Given the description of an element on the screen output the (x, y) to click on. 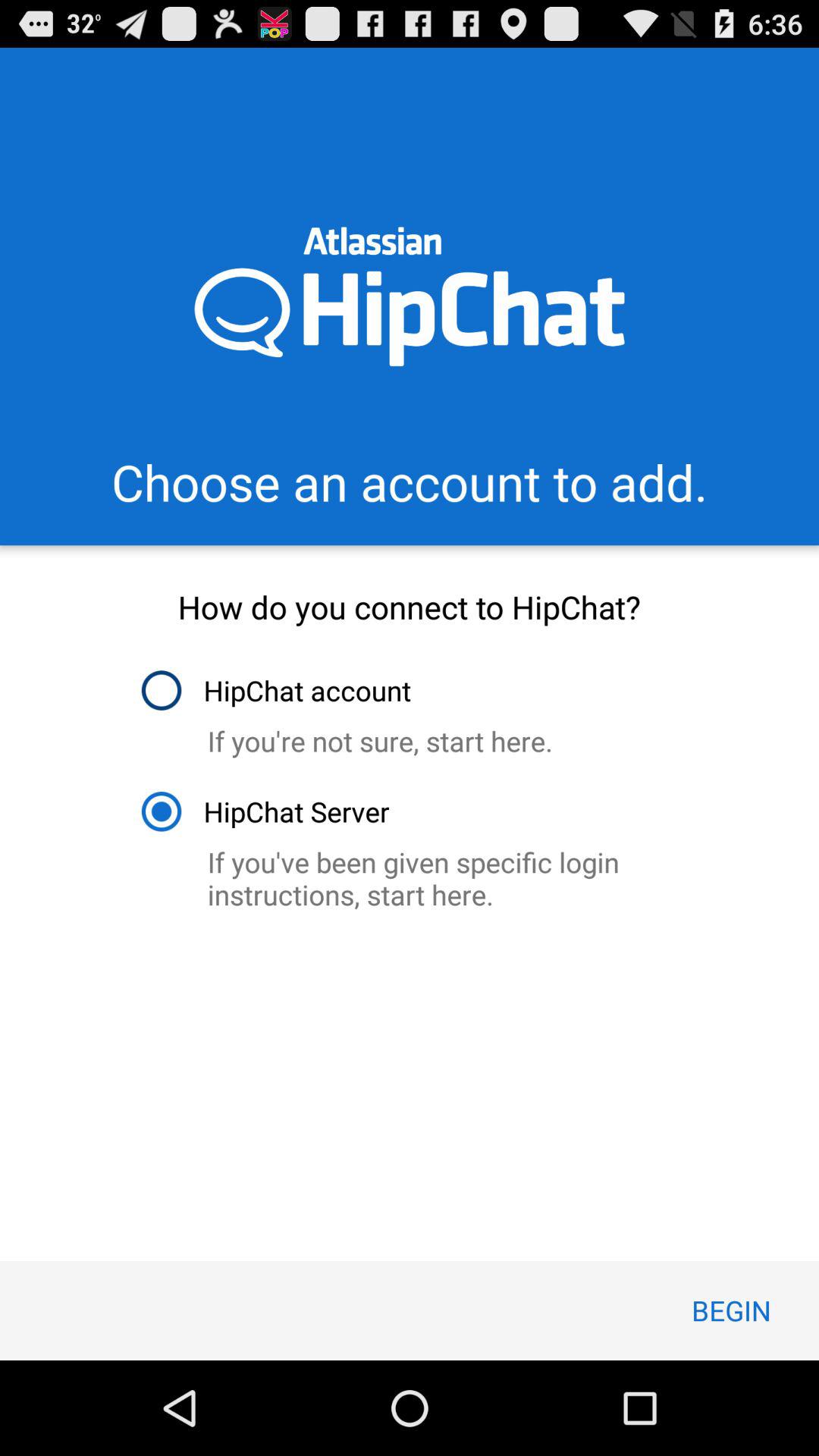
turn on the item on the left (264, 811)
